Given the description of an element on the screen output the (x, y) to click on. 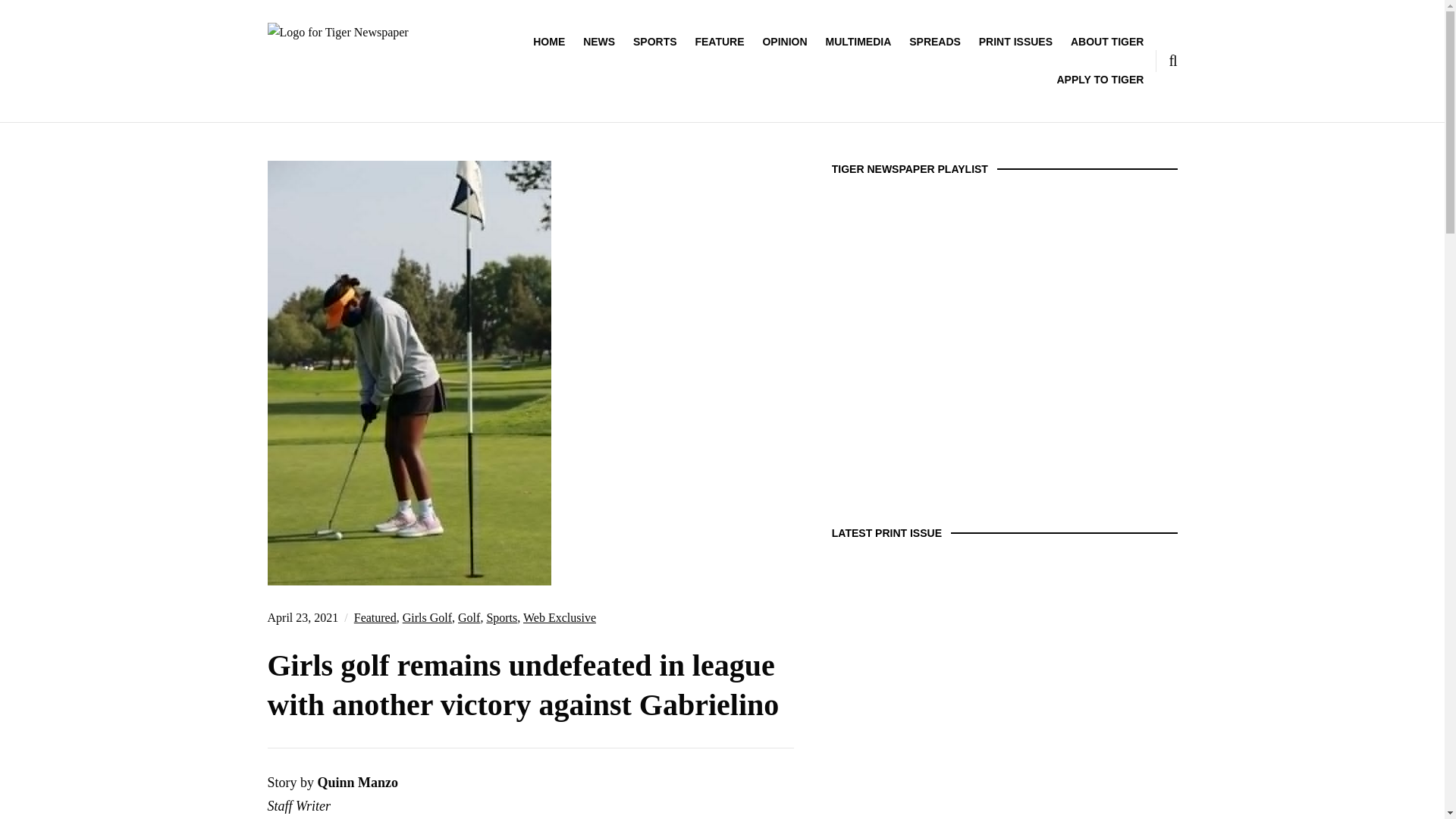
SPORTS (655, 41)
